Given the description of an element on the screen output the (x, y) to click on. 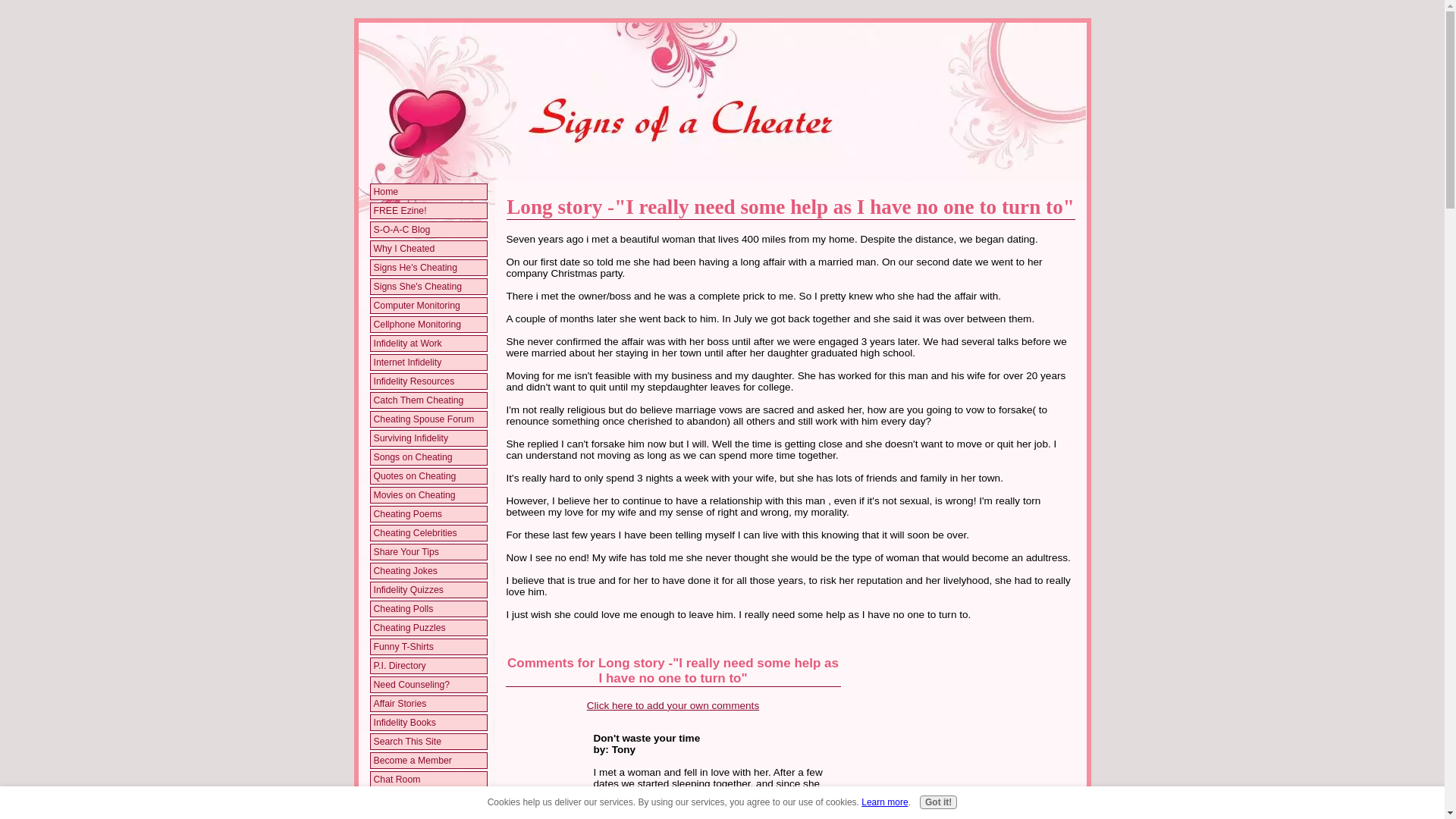
Surviving Infidelity (427, 437)
Cheating Polls (427, 608)
Free Contest 4 Cash (427, 814)
Affair Stories (427, 703)
P.I. Directory (427, 665)
Share Your Tips (427, 551)
Home (427, 191)
Search This Site (427, 741)
Computer Monitoring (427, 305)
Click here to add your own comments (672, 705)
Cellphone Monitoring (427, 324)
Catch Them Cheating (427, 400)
Songs on Cheating (427, 457)
Need Counseling? (427, 684)
Internet Infidelity (427, 362)
